Given the description of an element on the screen output the (x, y) to click on. 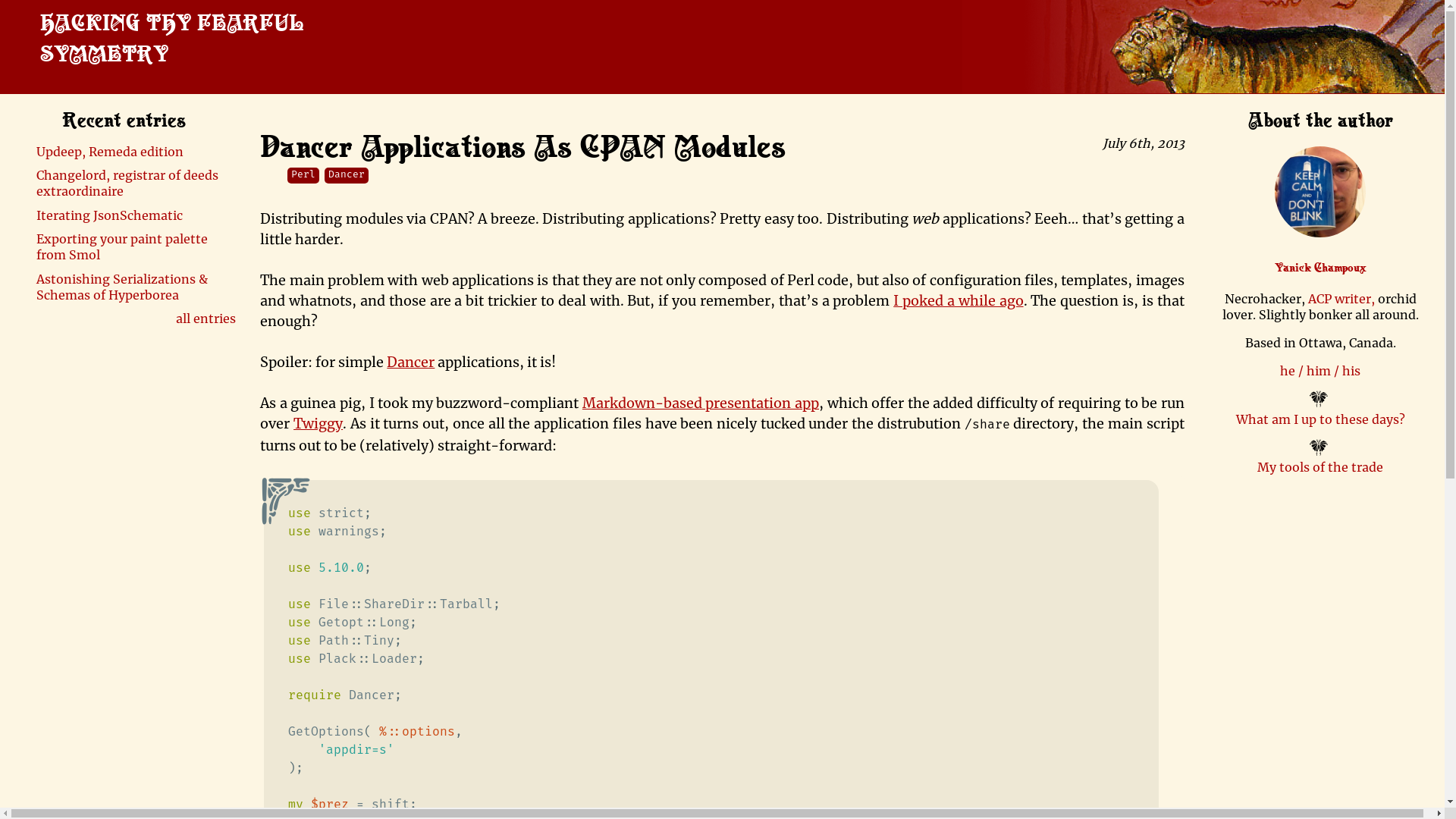
all entries Element type: text (205, 318)
Astonishing Serializations & Schemas of Hyperborea Element type: text (121, 286)
I poked a while ago Element type: text (957, 300)
Twiggy Element type: text (317, 423)
ACP writer, Element type: text (1342, 298)
My tools of the trade Element type: text (1320, 466)
Yanick Champoux Element type: text (1320, 267)
Updeep, Remeda edition Element type: text (109, 151)
Iterating JsonSchematic Element type: text (109, 214)
What am I up to these days? Element type: text (1320, 418)
Hacking Thy Fearful Symmetry Element type: text (171, 35)
Markdown-based presentation app Element type: text (700, 402)
Changelord, registrar of deeds extraordinaire Element type: text (127, 182)
Exporting your paint palette from Smol Element type: text (121, 246)
Dancer Element type: text (410, 361)
he / him / his Element type: text (1320, 370)
